Given the description of an element on the screen output the (x, y) to click on. 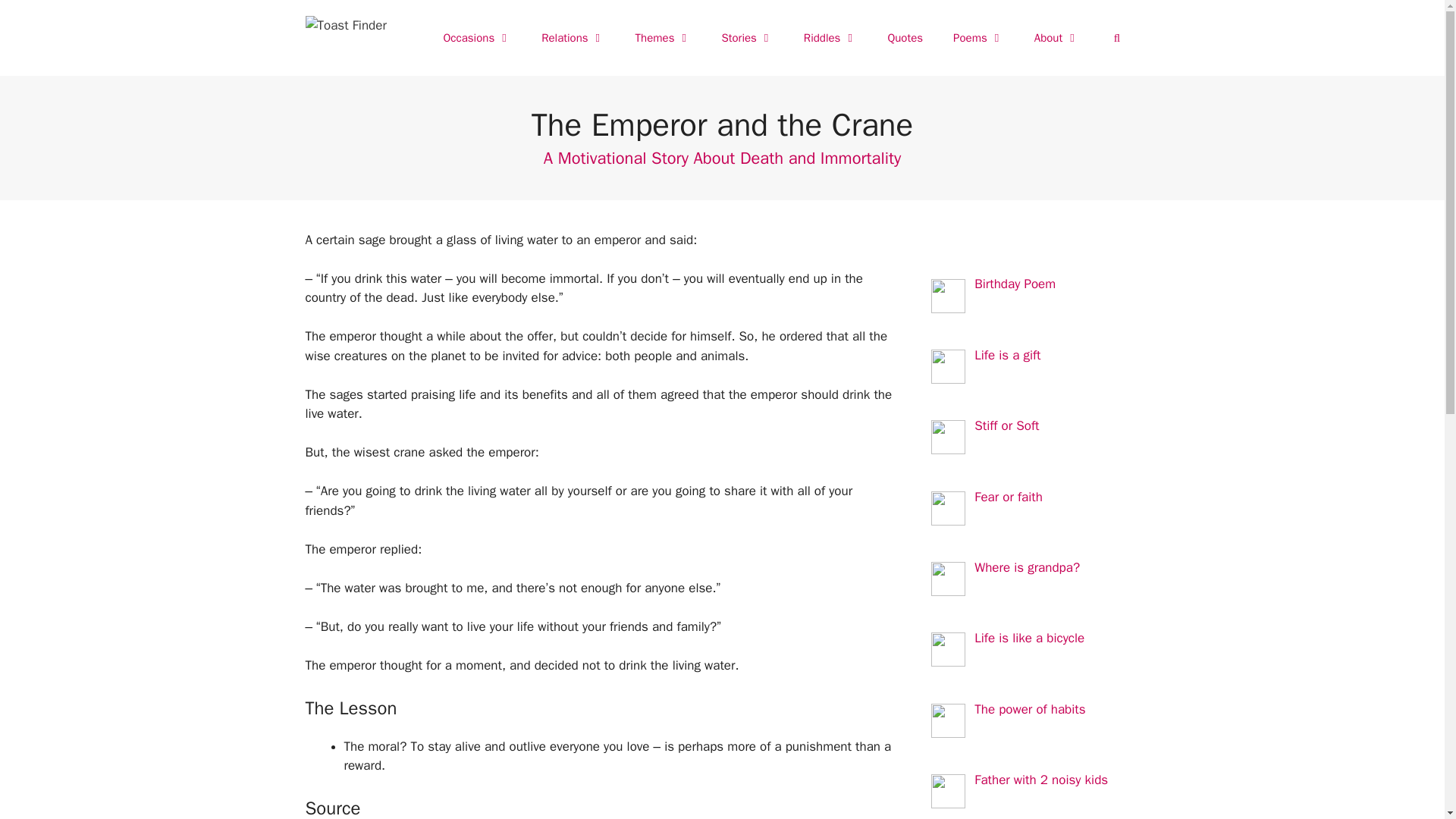
Occasions (476, 37)
Relations (572, 37)
Themes (663, 37)
